Given the description of an element on the screen output the (x, y) to click on. 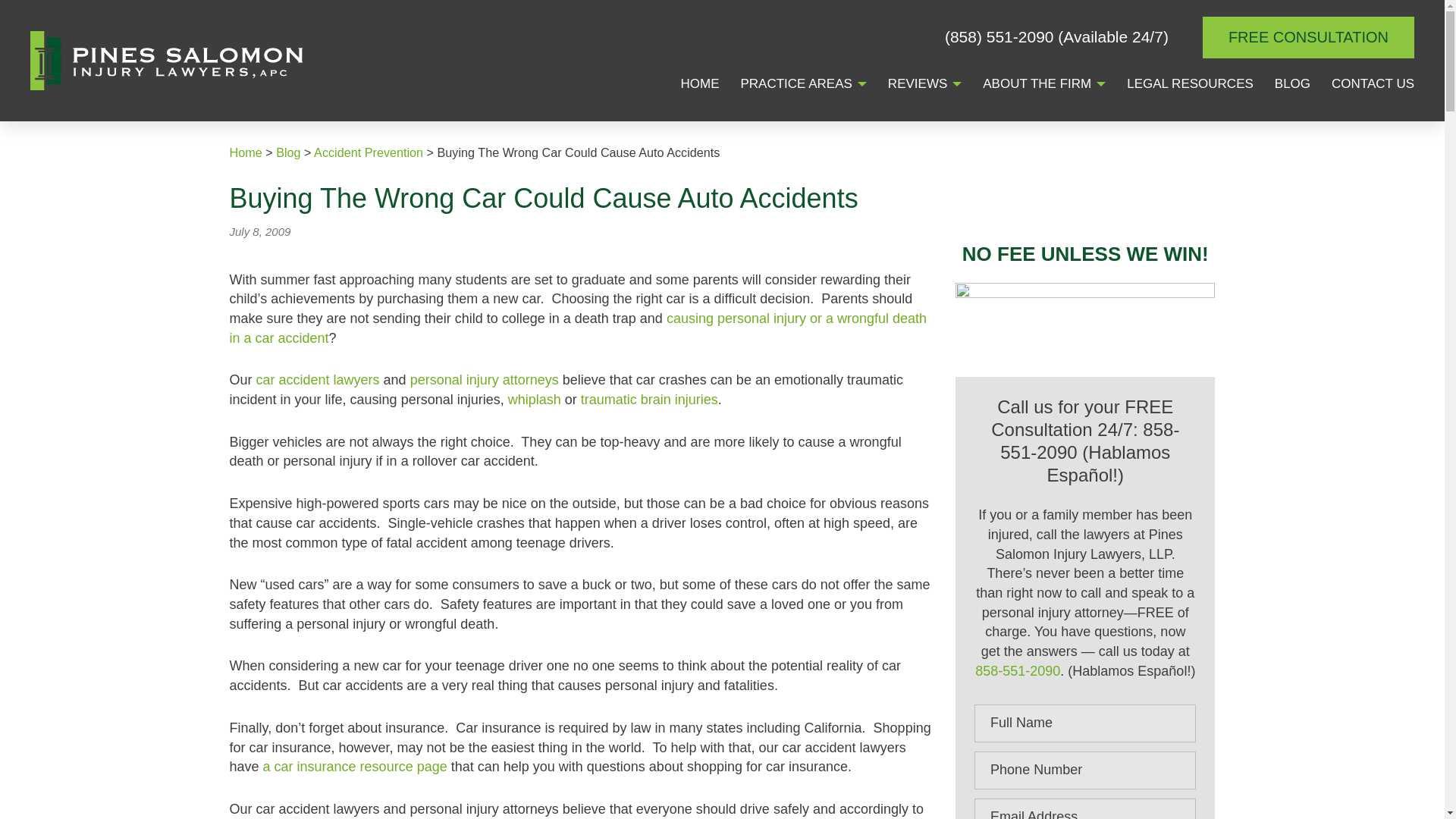
Go to the Accident Prevention Category archives. (368, 151)
Go to Pines Salomon Injury Lawyers, LLP. (245, 151)
FREE CONSULTATION (1307, 37)
Go to Blog. (287, 151)
PRACTICE AREAS (795, 85)
